Given the description of an element on the screen output the (x, y) to click on. 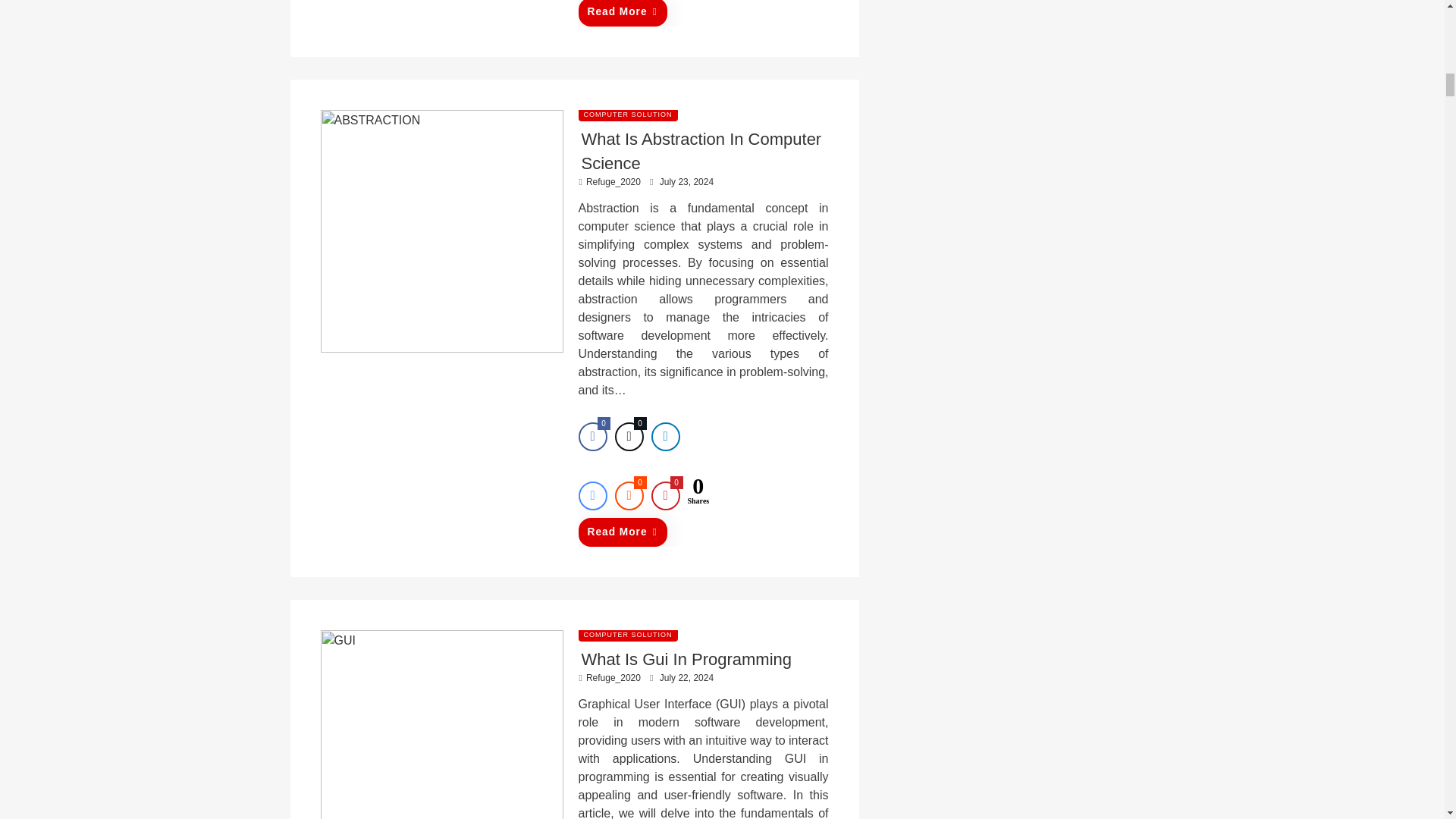
What Is Gui In Programming 10 (441, 724)
What Is Abstraction In Computer Science 9 (441, 230)
